Given the description of an element on the screen output the (x, y) to click on. 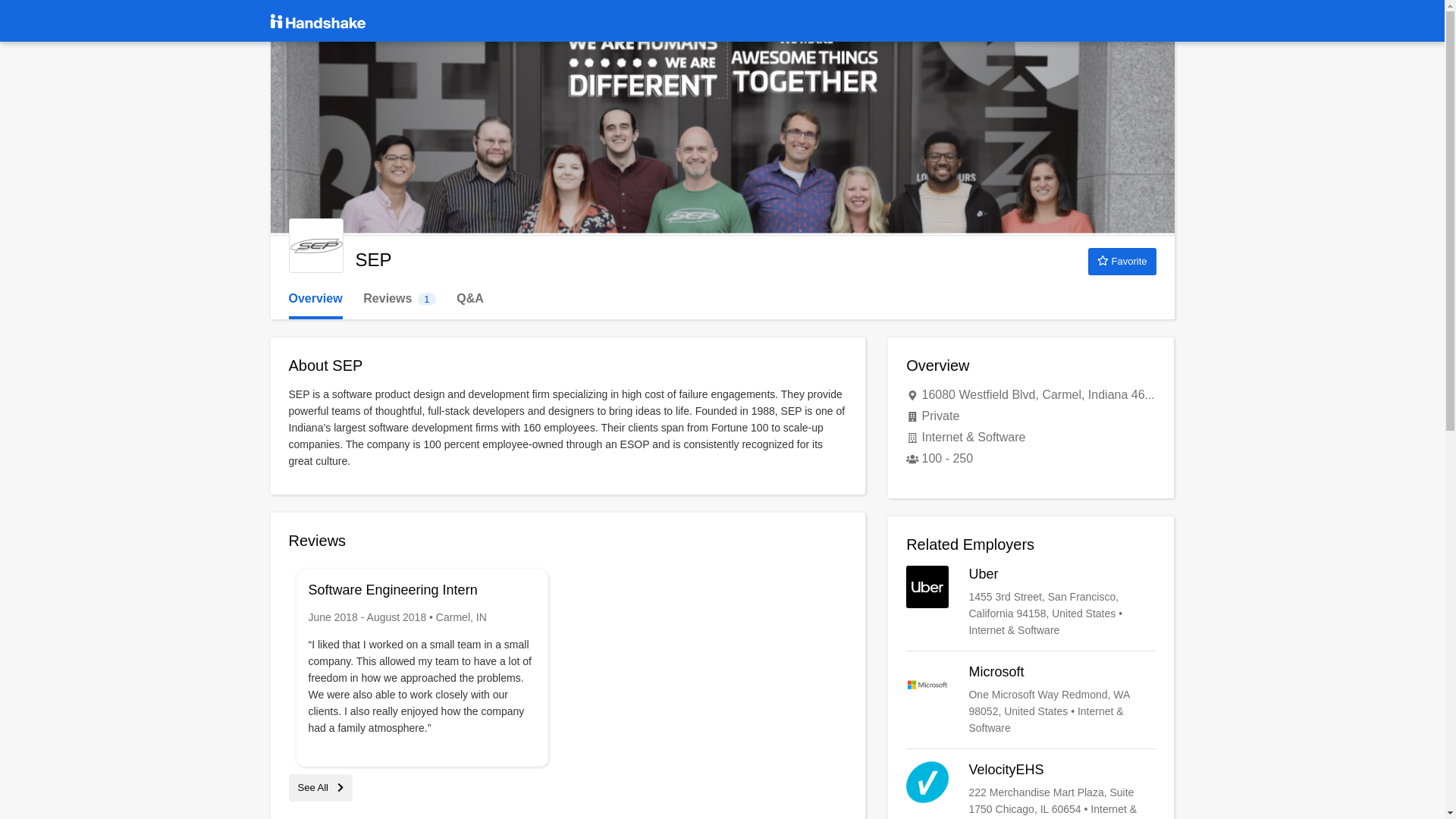
Microsoft (398, 298)
See All (1030, 699)
Overview (320, 787)
SEP (315, 298)
Favorite (315, 245)
Uber (1121, 261)
VelocityEHS (1030, 601)
